Given the description of an element on the screen output the (x, y) to click on. 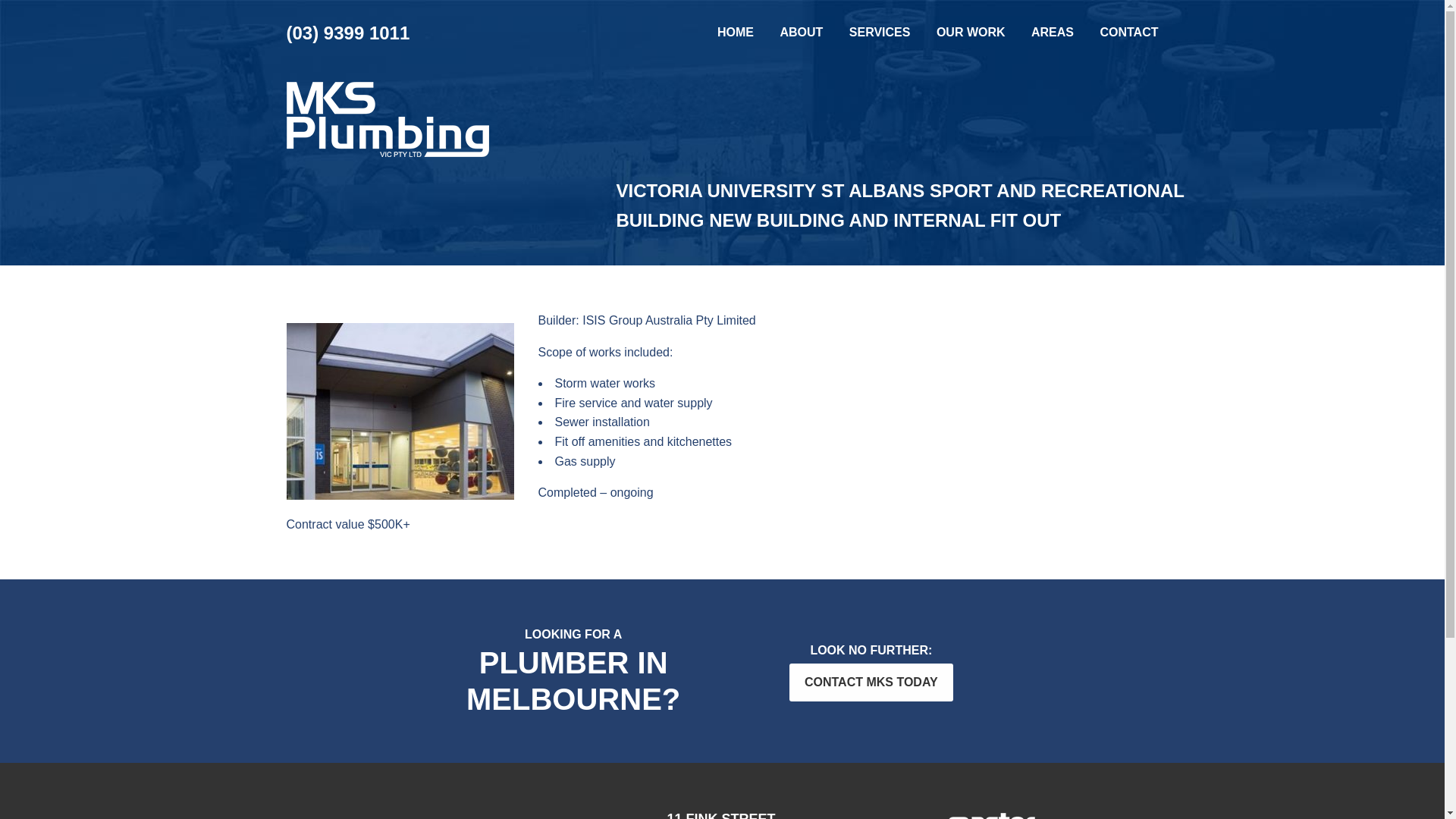
CONTACT MKS TODAY Element type: text (871, 682)
ABOUT Element type: text (800, 31)
CONTACT Element type: text (1128, 31)
SERVICES Element type: text (879, 31)
AREAS Element type: text (1052, 31)
HOME Element type: text (735, 31)
(03) 9399 1011 Element type: text (348, 32)
OUR WORK Element type: text (970, 31)
